Given the description of an element on the screen output the (x, y) to click on. 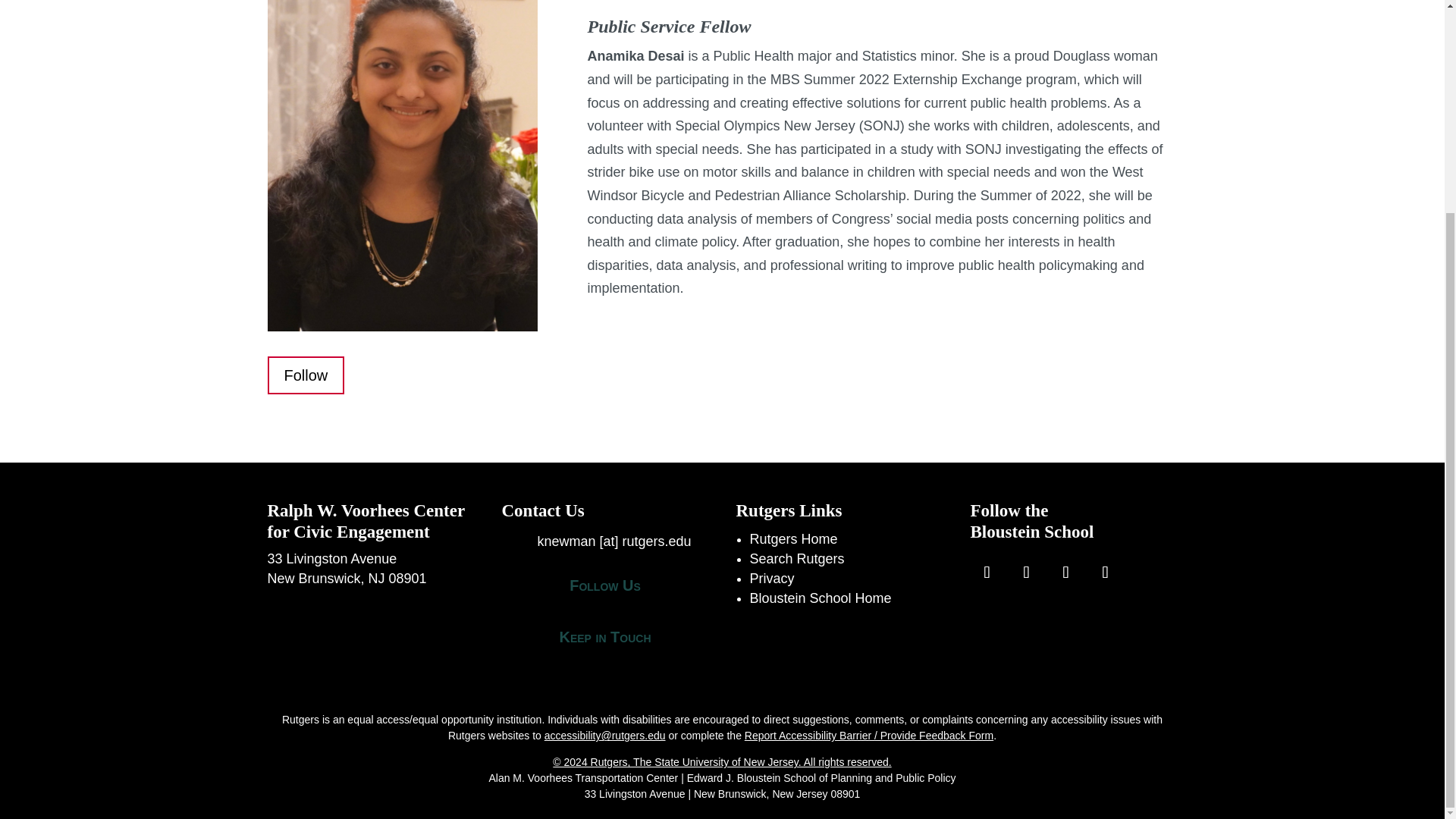
Follow Us (605, 585)
Follow on Twitter (1066, 572)
Follow on Facebook (987, 572)
Rutgers Home (793, 539)
Follow on Instagram (1026, 572)
Follow on LinkedIn (1105, 572)
Follow (304, 374)
Keep in Touch (603, 637)
